Given the description of an element on the screen output the (x, y) to click on. 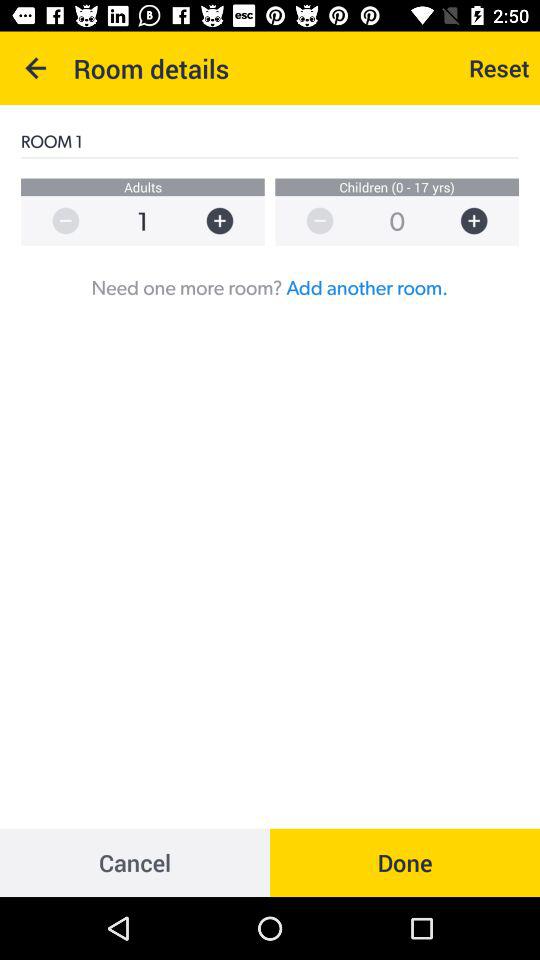
add object (484, 220)
